Given the description of an element on the screen output the (x, y) to click on. 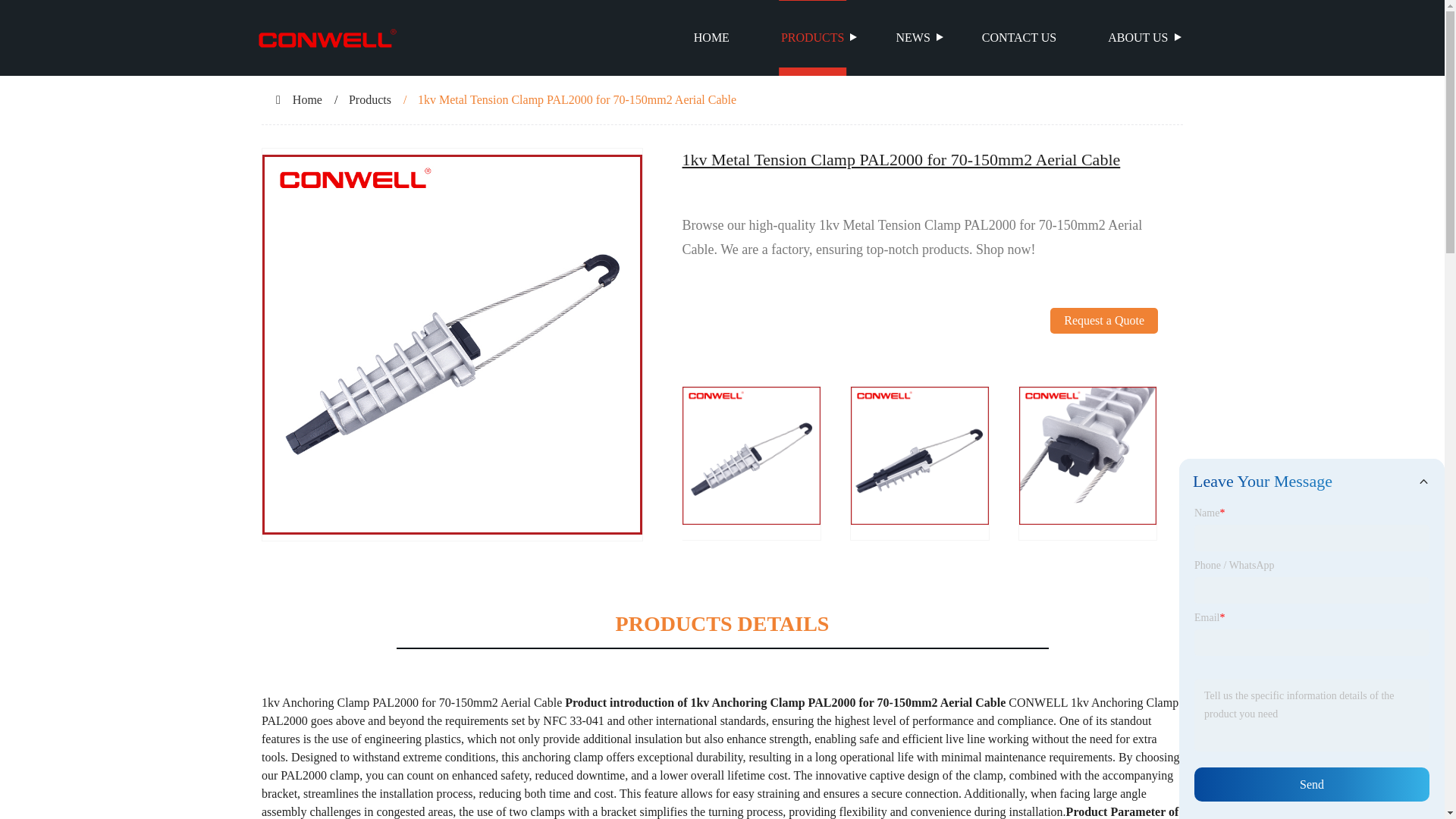
Products (370, 99)
Request a Quote (1103, 346)
PRODUCTS (812, 38)
Home (306, 99)
CONTACT US (1018, 38)
